Given the description of an element on the screen output the (x, y) to click on. 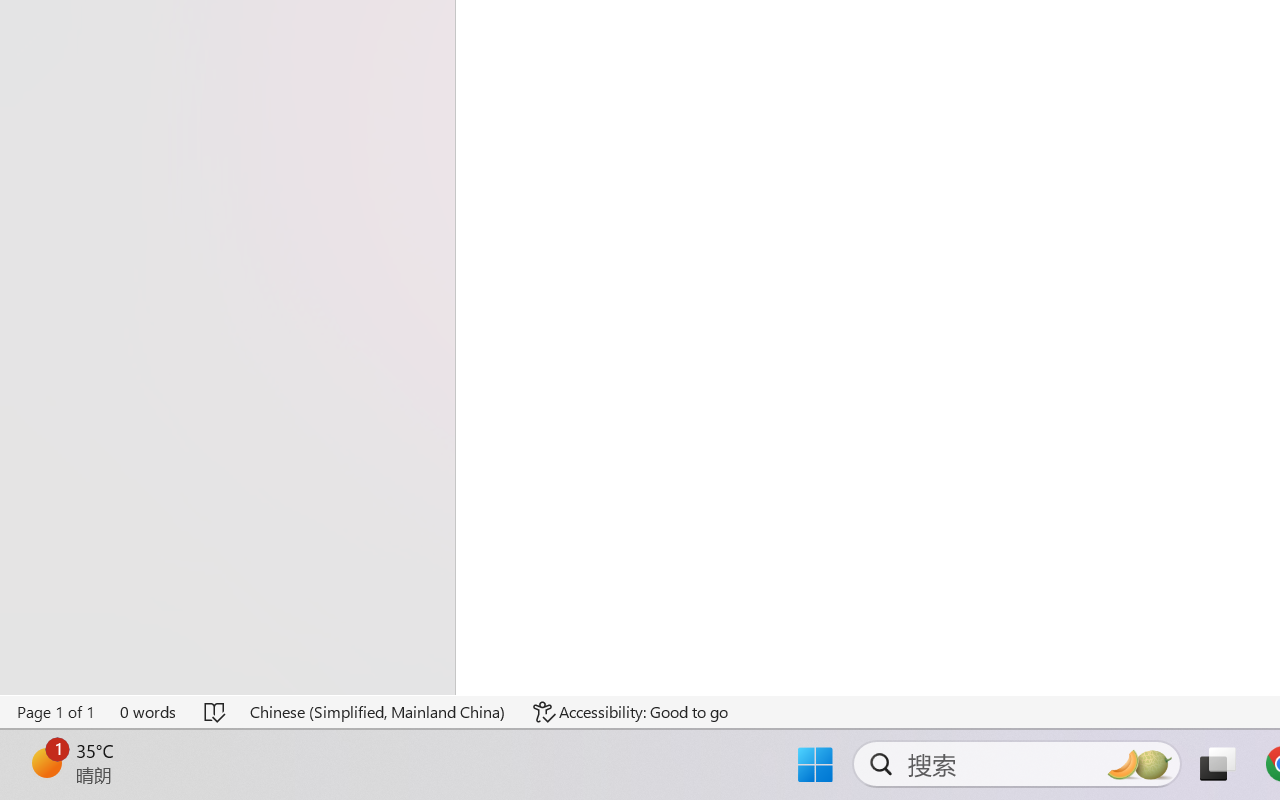
Language Chinese (Simplified, Mainland China) (378, 712)
